Given the description of an element on the screen output the (x, y) to click on. 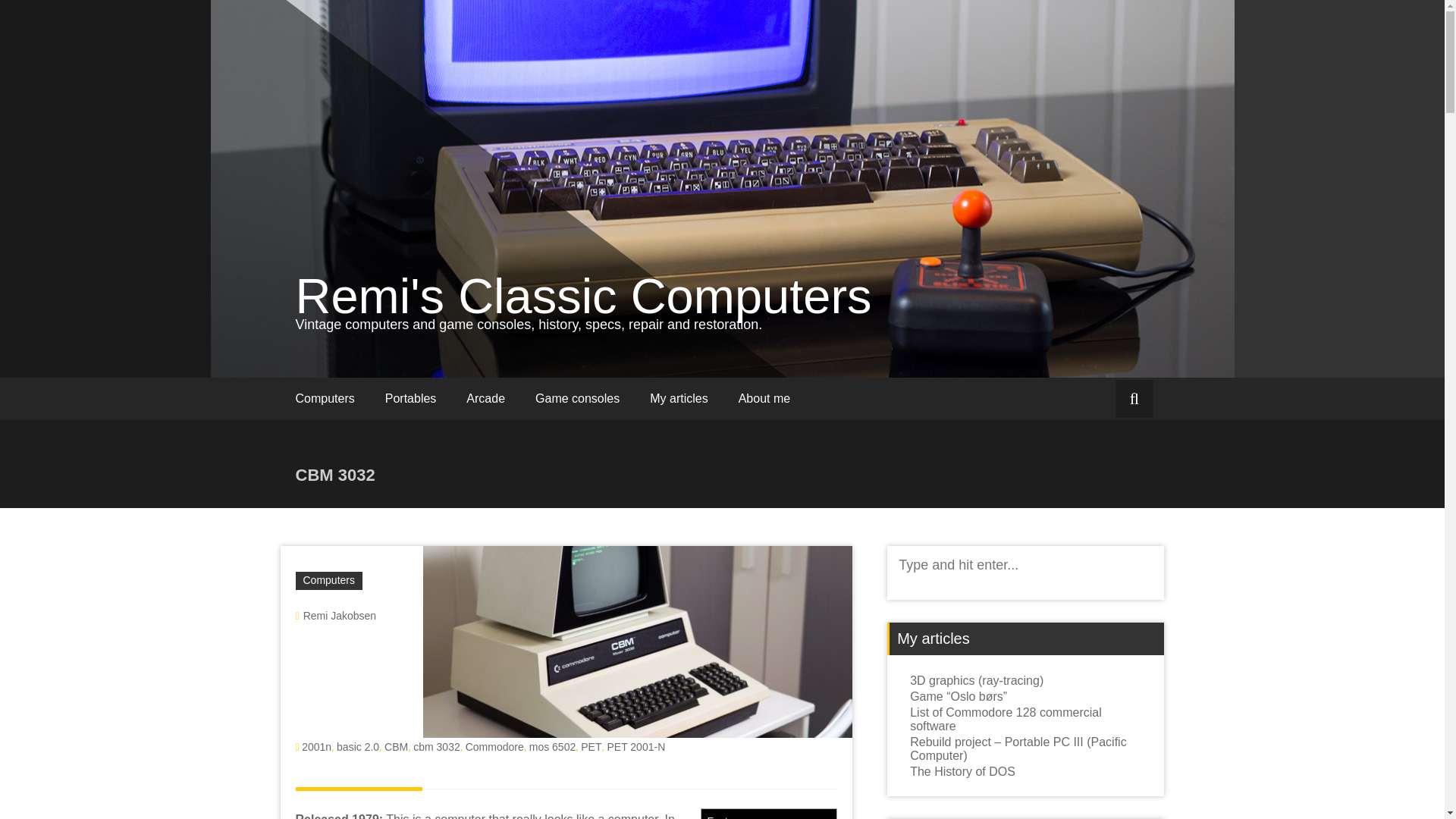
About me (764, 398)
2001n (316, 746)
mos 6502 (552, 746)
Computers (325, 398)
PET (590, 746)
Game consoles (576, 398)
CBM (395, 746)
basic 2.0 (357, 746)
Commodore (494, 746)
cbm 3032 (436, 746)
Computers (328, 580)
Remi Jakobsen (339, 615)
PET 2001-N (636, 746)
Remi's Classic Computers (583, 295)
Arcade (485, 398)
